Given the description of an element on the screen output the (x, y) to click on. 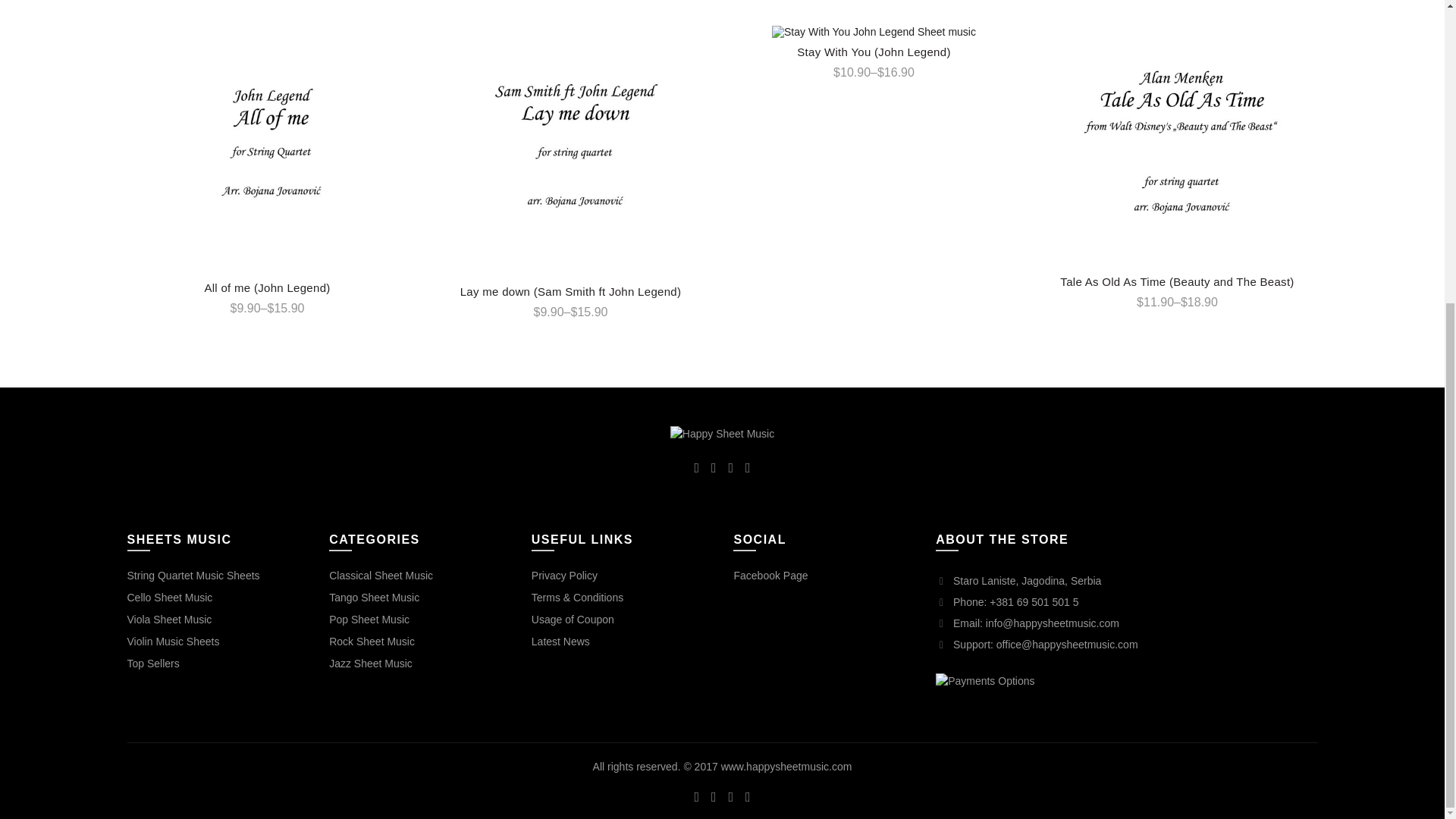
Happy Sheet Music (721, 433)
